Given the description of an element on the screen output the (x, y) to click on. 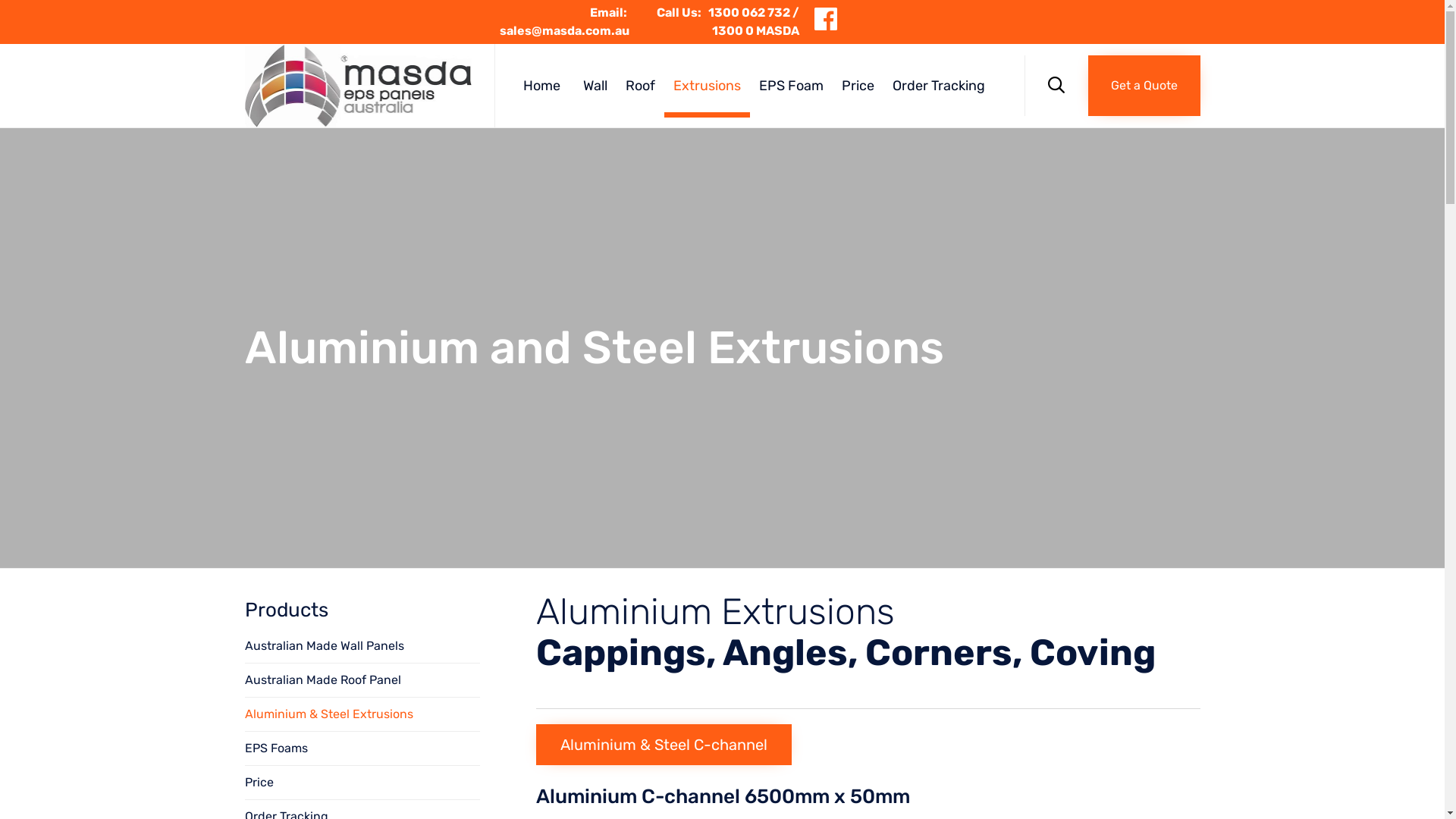
Masda EPS Panels Australia Element type: hover (357, 85)
Wall Element type: text (595, 85)
Skip to content Element type: text (1023, 54)
Aluminium & Steel Extrusions Element type: text (361, 714)
Roof Element type: text (640, 85)
Order Tracking Element type: text (938, 85)
EPS Foams Element type: text (361, 748)
Australian Made Roof Panel Element type: text (361, 680)
Price Element type: text (361, 782)
EPS Foam Element type: text (790, 85)
Home Element type: text (544, 85)
Australian Made Wall Panels Element type: text (361, 646)
Get a Quote Element type: text (1143, 85)
Price Element type: text (857, 85)
Aluminium & Steel C-channel Element type: text (662, 744)
Extrusions Element type: text (706, 85)
